Given the description of an element on the screen output the (x, y) to click on. 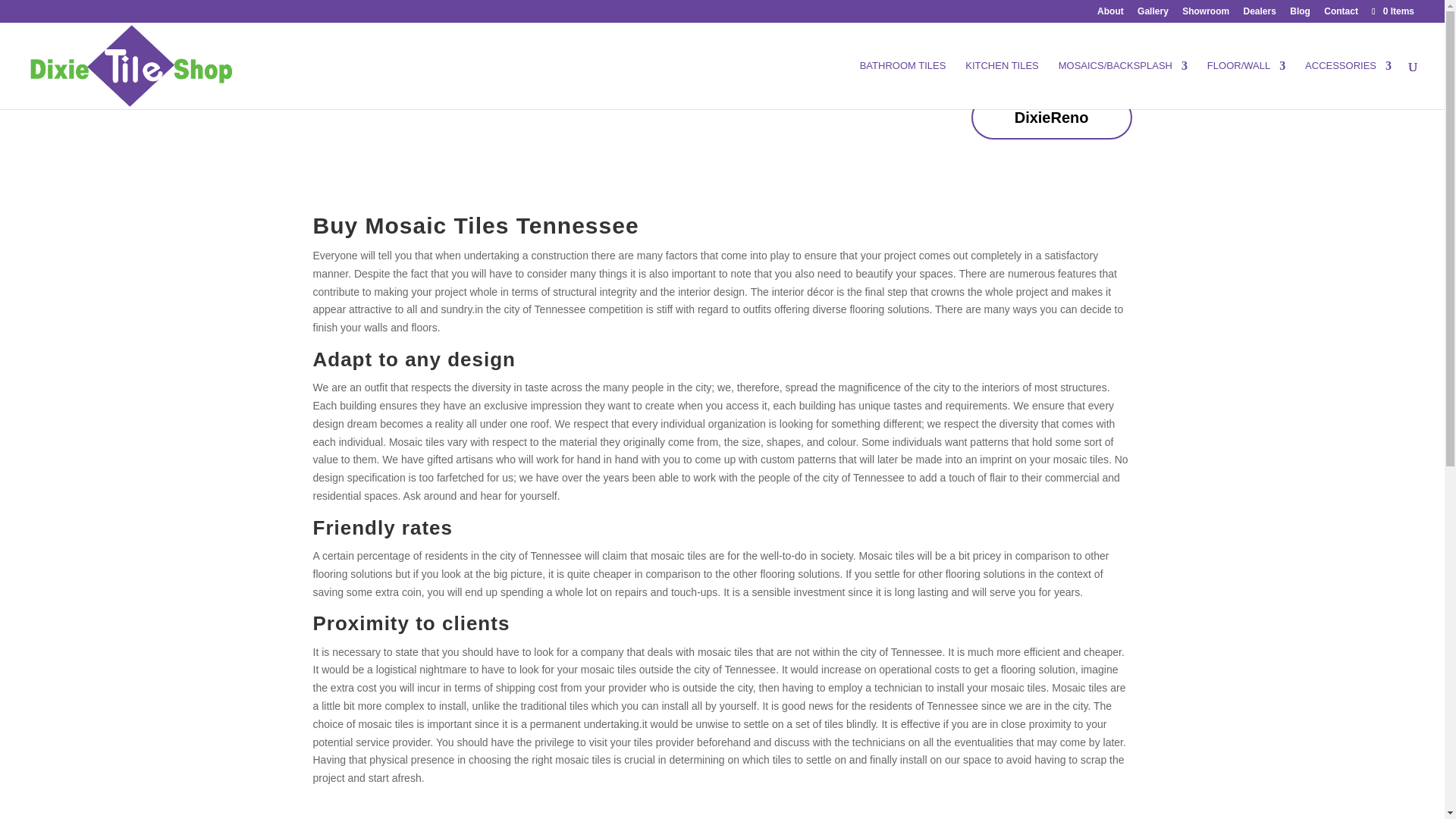
Gallery (1153, 14)
0 Items (1391, 10)
About (1110, 14)
BATHROOM TILES (903, 84)
KITCHEN TILES (1002, 84)
Contact (1340, 14)
Dealers (1259, 14)
Showroom (1205, 14)
Blog (1300, 14)
